Given the description of an element on the screen output the (x, y) to click on. 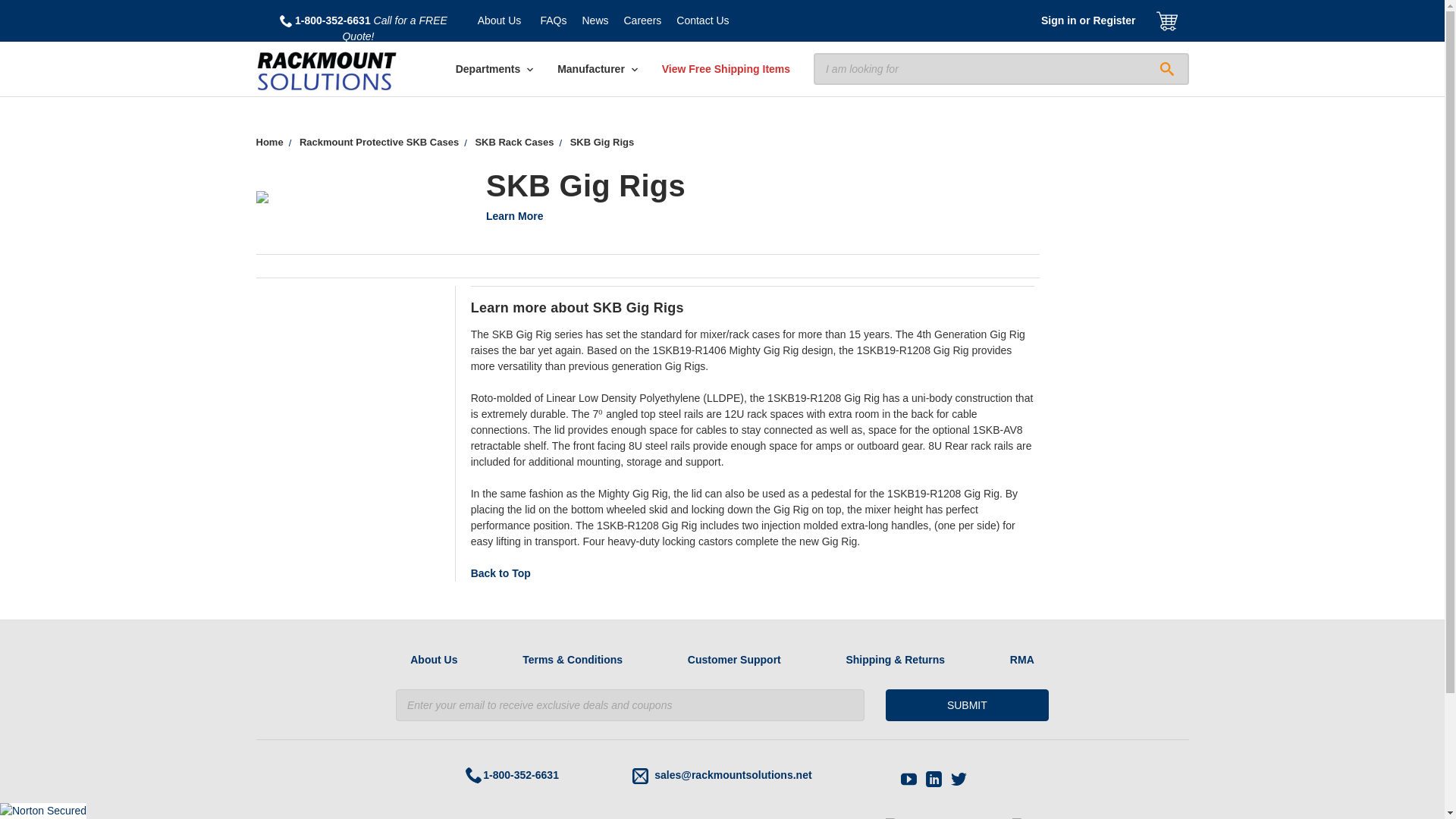
Submit (966, 705)
Contact Us (702, 20)
About Us (499, 20)
Sign in (1058, 20)
Careers (641, 20)
News (594, 20)
1-800-352-6631 Call for a FREE Quote! (362, 28)
Rackmount Solutions (326, 71)
Register (1113, 20)
FAQs (552, 20)
